Given the description of an element on the screen output the (x, y) to click on. 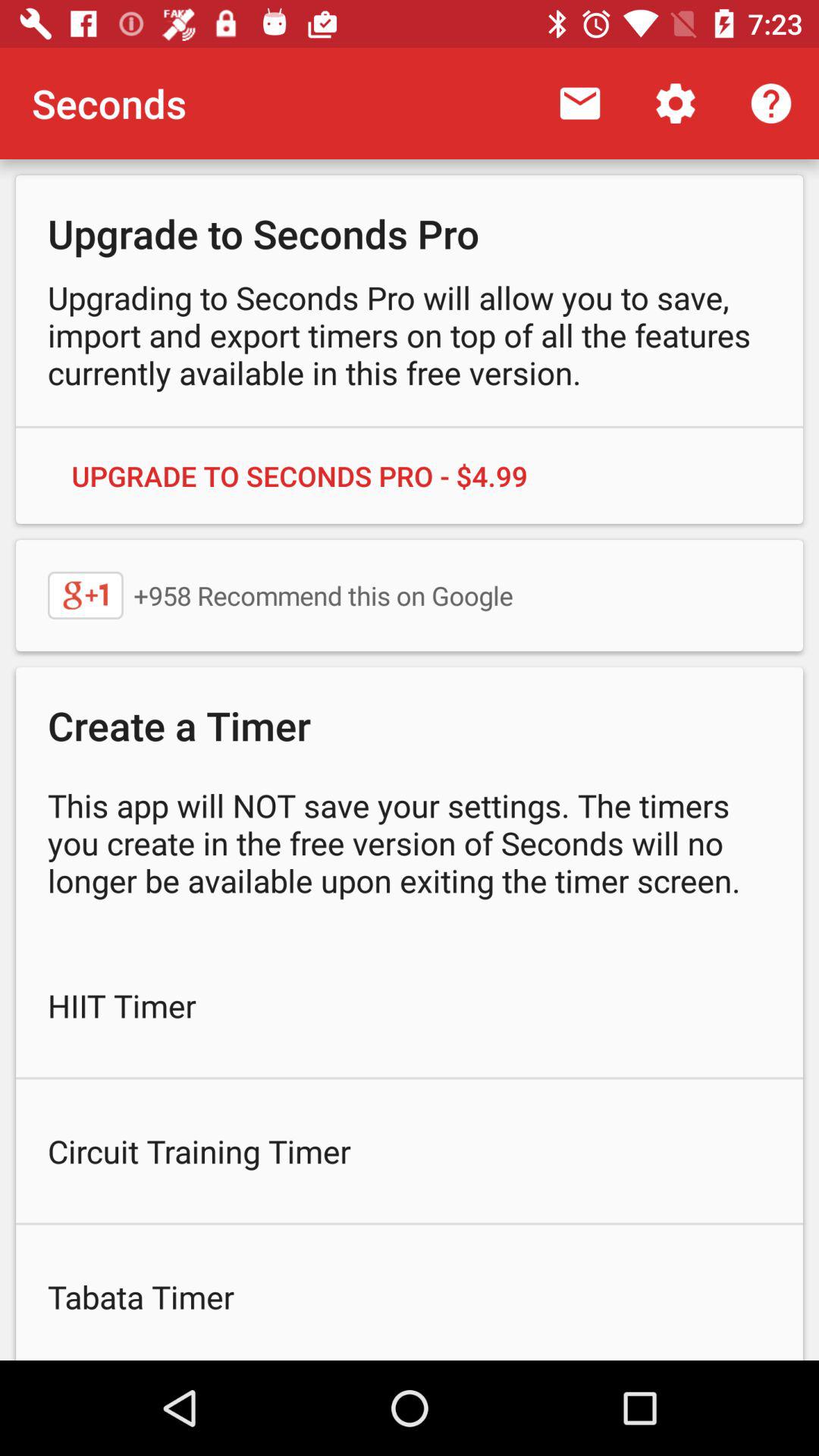
turn on item next to the seconds (579, 103)
